Given the description of an element on the screen output the (x, y) to click on. 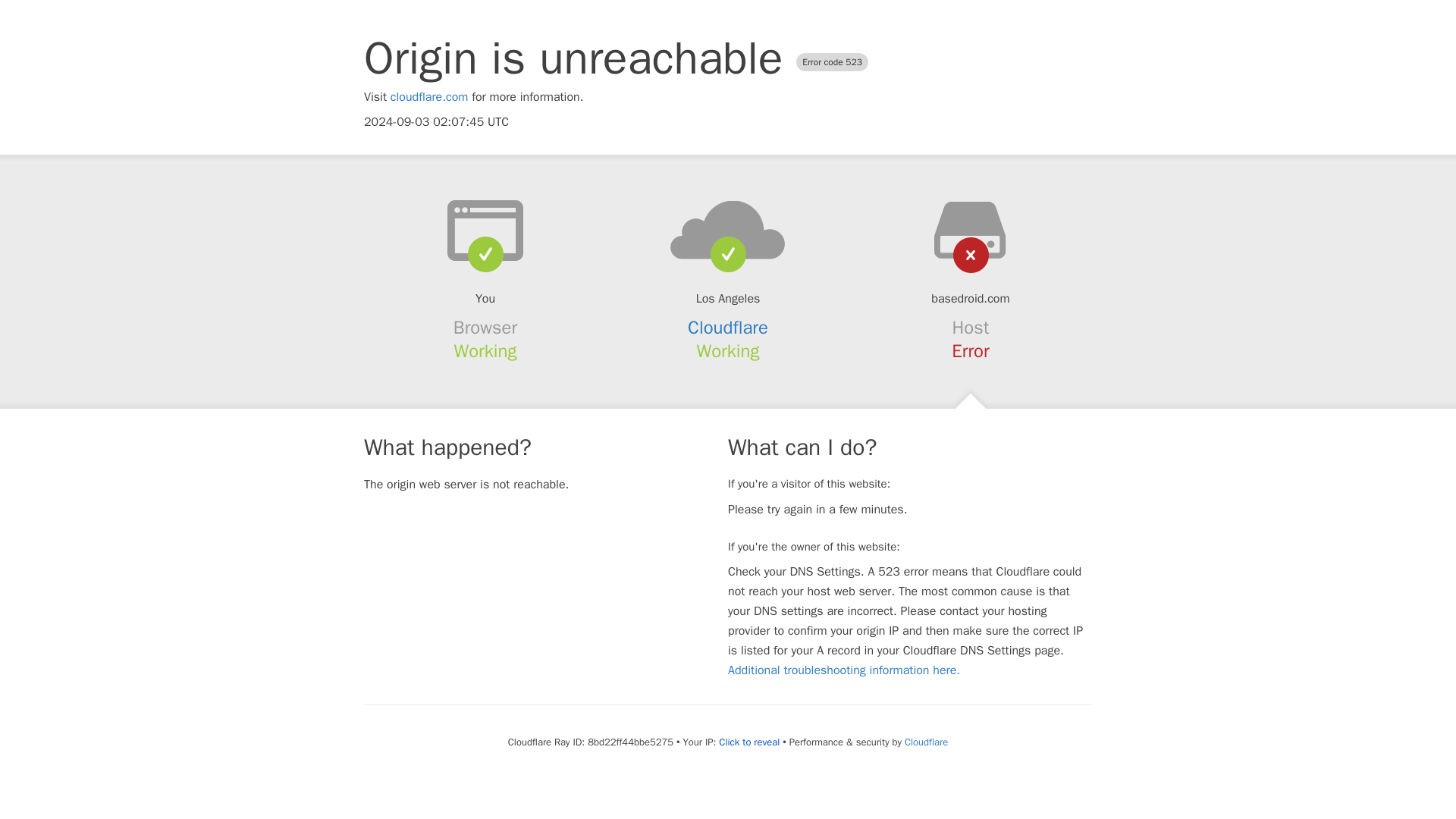
Cloudflare (925, 741)
Cloudflare (727, 327)
Additional troubleshooting information here. (843, 670)
Click to reveal (748, 742)
cloudflare.com (429, 96)
